Given the description of an element on the screen output the (x, y) to click on. 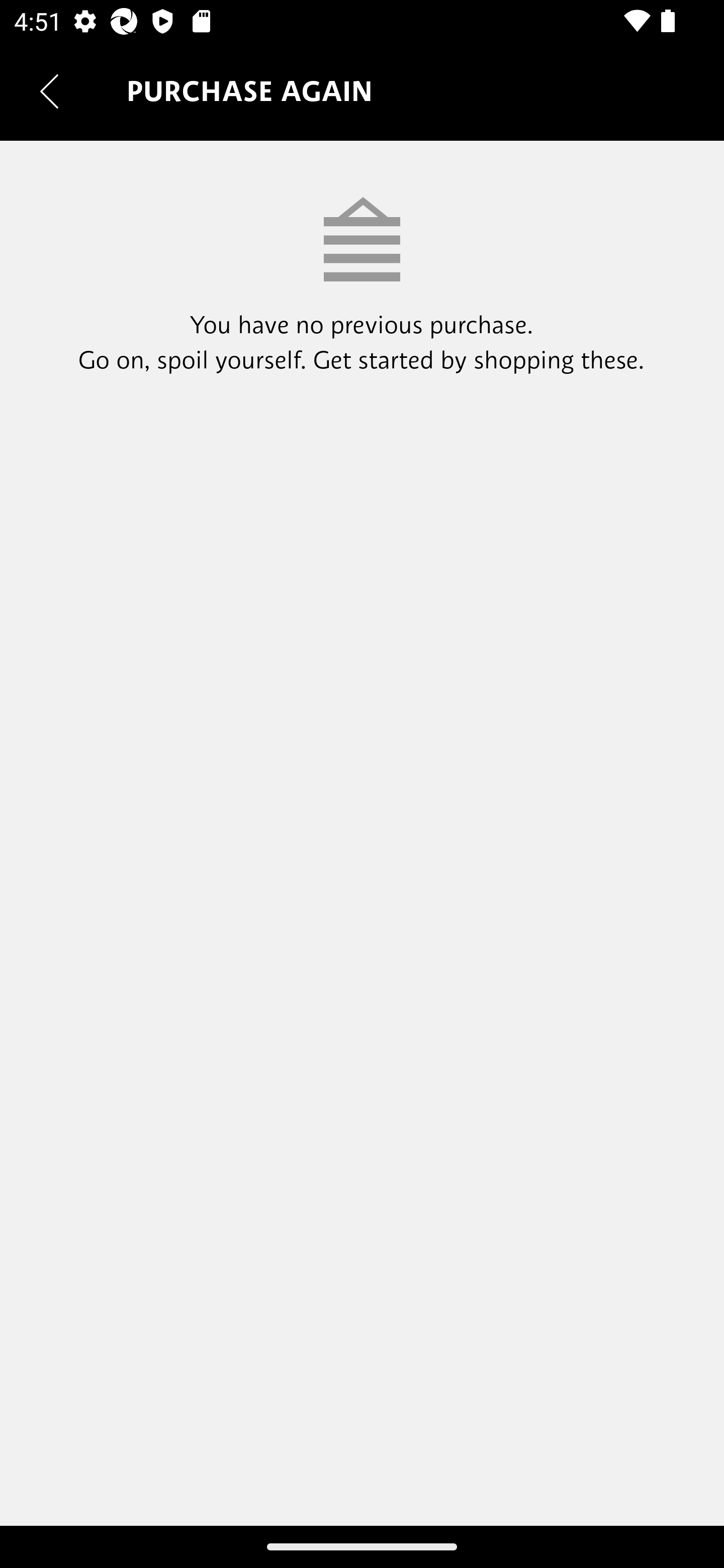
Navigate up (49, 91)
